Given the description of an element on the screen output the (x, y) to click on. 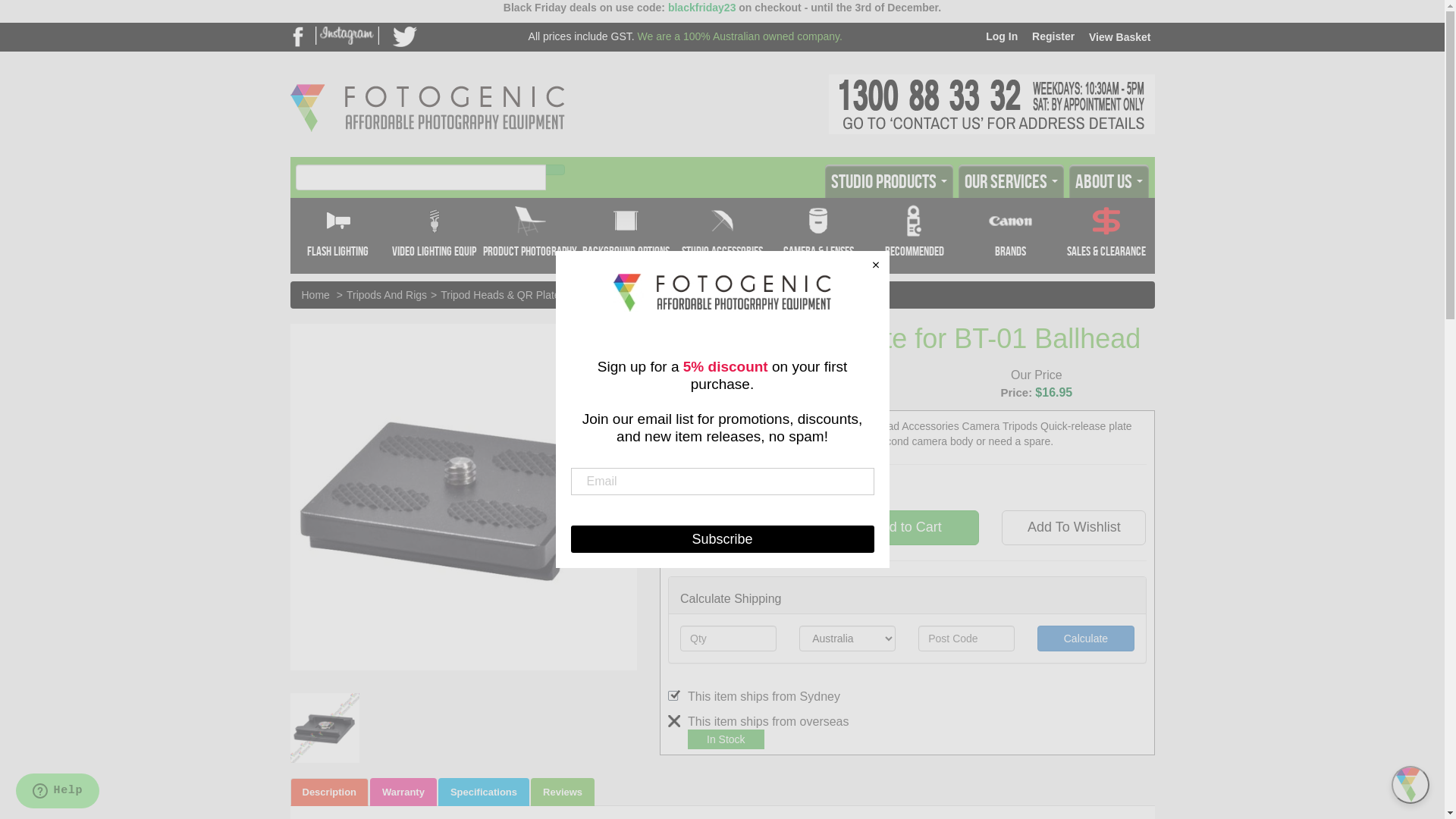
Fotogenic Photo Video Camera Lighting Equipment Element type: hover (426, 84)
Add to Cart Element type: text (906, 527)
Sales & clearance Element type: text (1106, 235)
Register Element type: text (1051, 36)
Large View Element type: hover (324, 727)
Quick Release Plate for BT-01 Ballhead Element type: text (672, 294)
View Basket Element type: text (1117, 37)
Calculate Element type: text (1085, 638)
Add To Wishlist Element type: text (1073, 527)
Studio Accessories Element type: text (722, 235)
Tripod Heads & QR Plates Element type: text (502, 294)
Write a review Element type: text (692, 387)
Flash Lighting Element type: text (337, 235)
Camera & lenses Element type: text (818, 235)
Home Element type: text (315, 294)
Background options Element type: text (625, 235)
Tripods And Rigs Element type: text (386, 294)
Reviews Element type: text (562, 792)
Search Element type: text (554, 169)
Recommended Element type: text (914, 235)
Specifications Element type: text (483, 792)
Brands Element type: text (1010, 235)
ABOUT US Element type: text (1108, 180)
Opens a widget where you can chat to one of our agents Element type: hover (57, 792)
Warranty Element type: text (403, 792)
Video Lighting Equip Element type: text (433, 235)
Product Photography Element type: text (530, 235)
Description Element type: text (328, 792)
Log In Element type: text (999, 36)
STUDIO PRODUCTS Element type: text (889, 180)
OUR SERVICES Element type: text (1010, 180)
We are a 100% Australian owned company. Element type: text (739, 36)
